Given the description of an element on the screen output the (x, y) to click on. 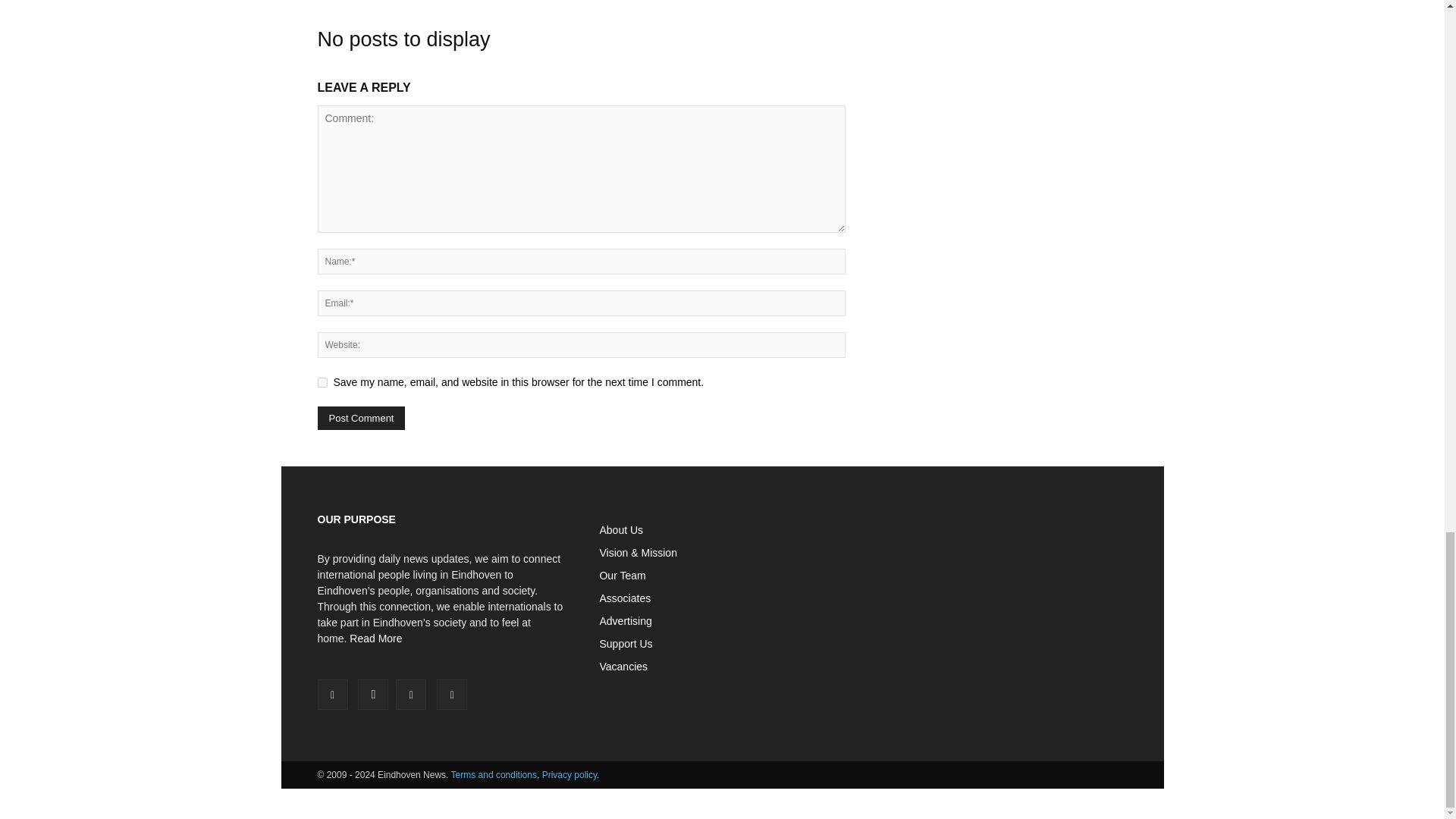
yes (321, 382)
Post Comment (360, 417)
